Given the description of an element on the screen output the (x, y) to click on. 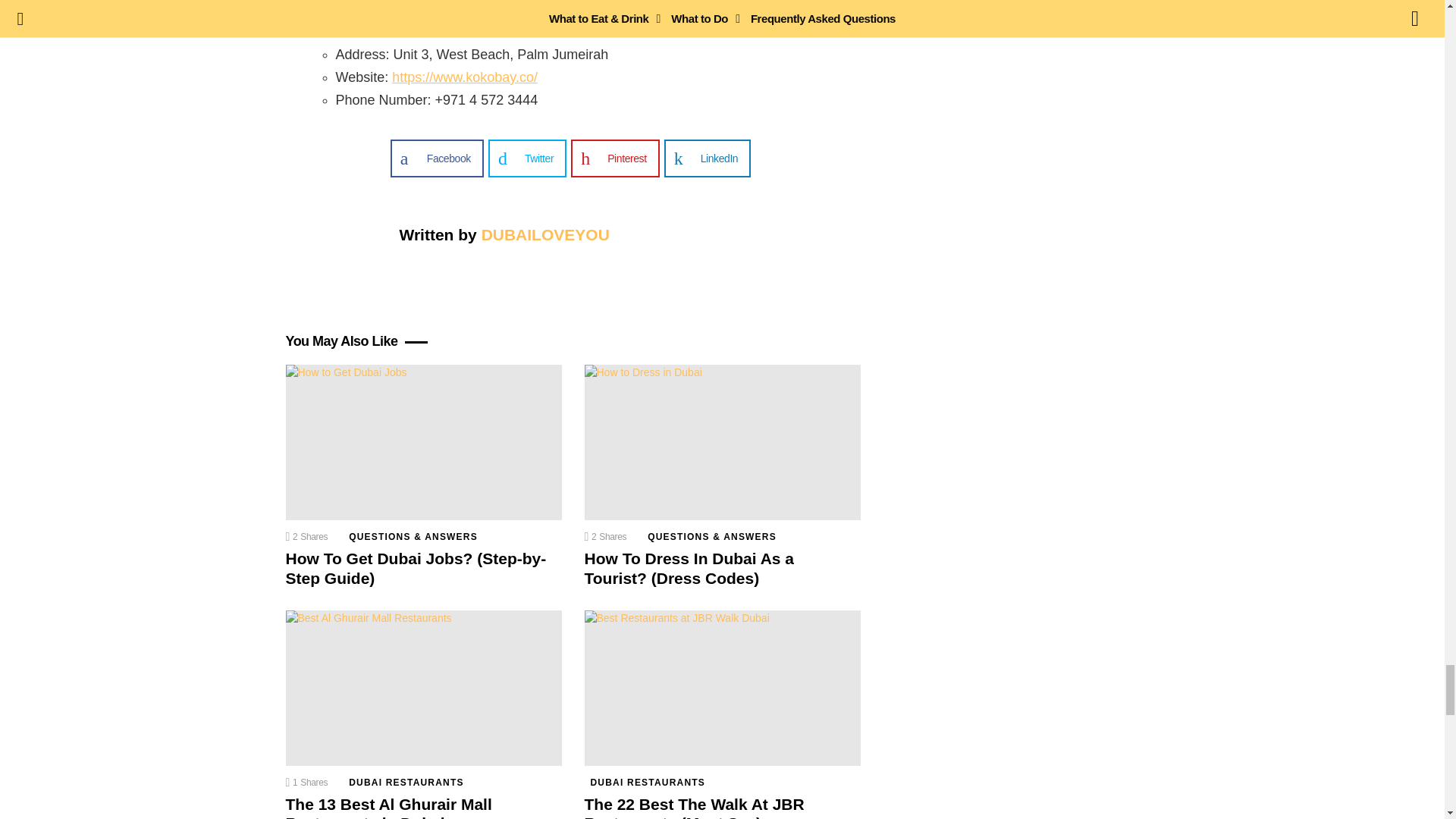
Share on Twitter (526, 158)
Share on Facebook (436, 158)
